Given the description of an element on the screen output the (x, y) to click on. 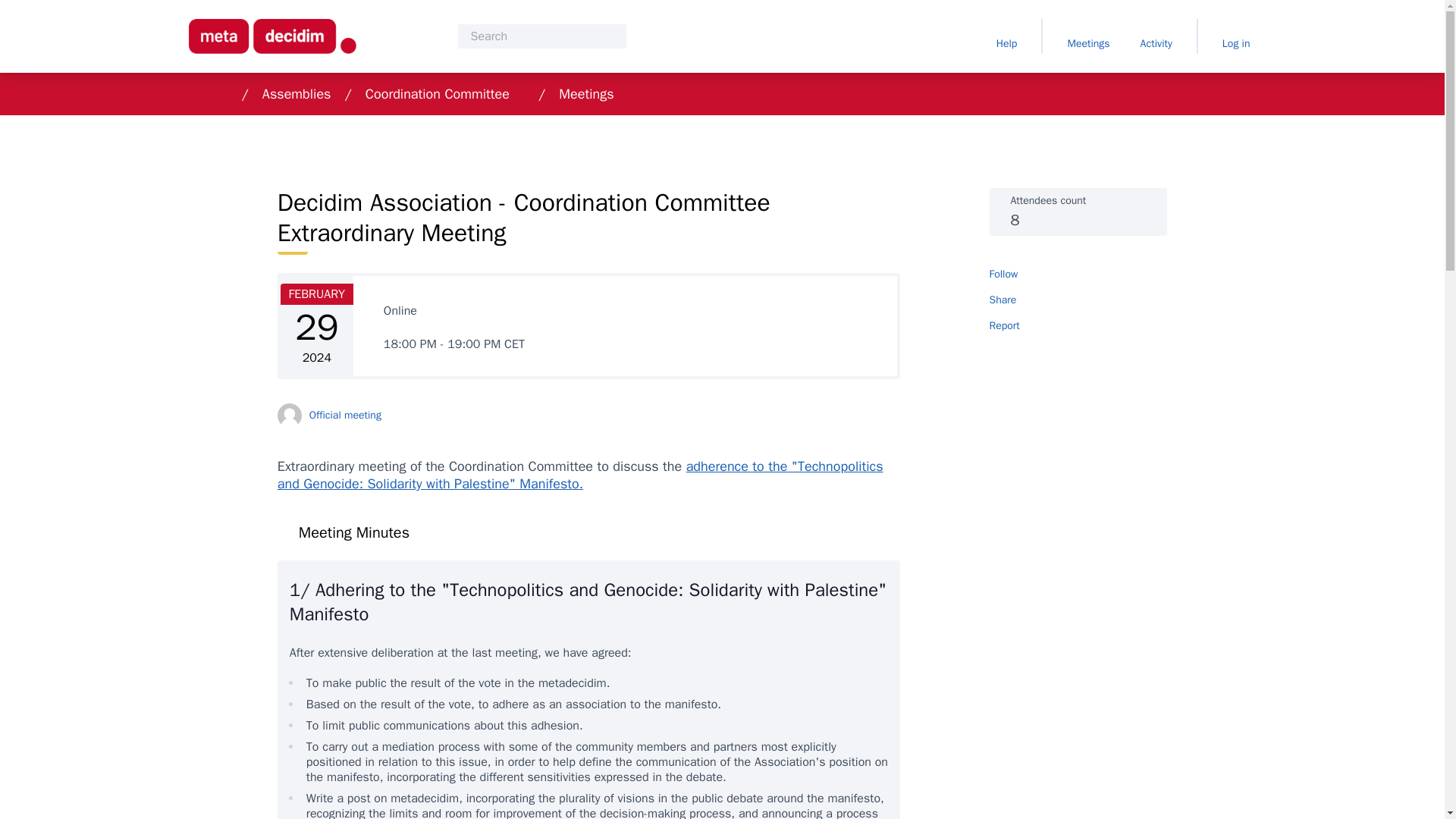
Search (542, 36)
Share (1077, 300)
Meetings (1088, 36)
Help (1006, 36)
Log in (1235, 36)
Please log in before performing this action (1010, 274)
Report (1077, 325)
Activity (1155, 36)
